Given the description of an element on the screen output the (x, y) to click on. 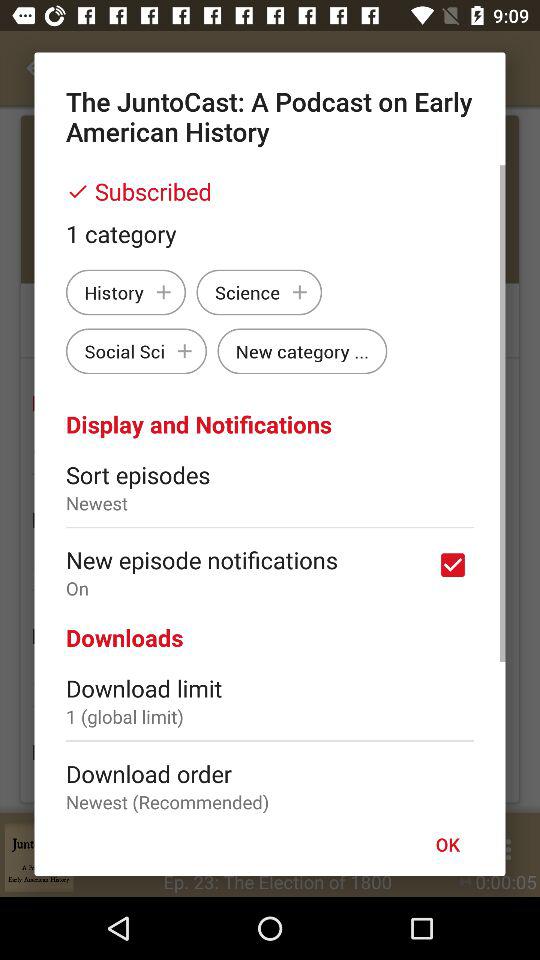
choose the subscribed (269, 191)
